Given the description of an element on the screen output the (x, y) to click on. 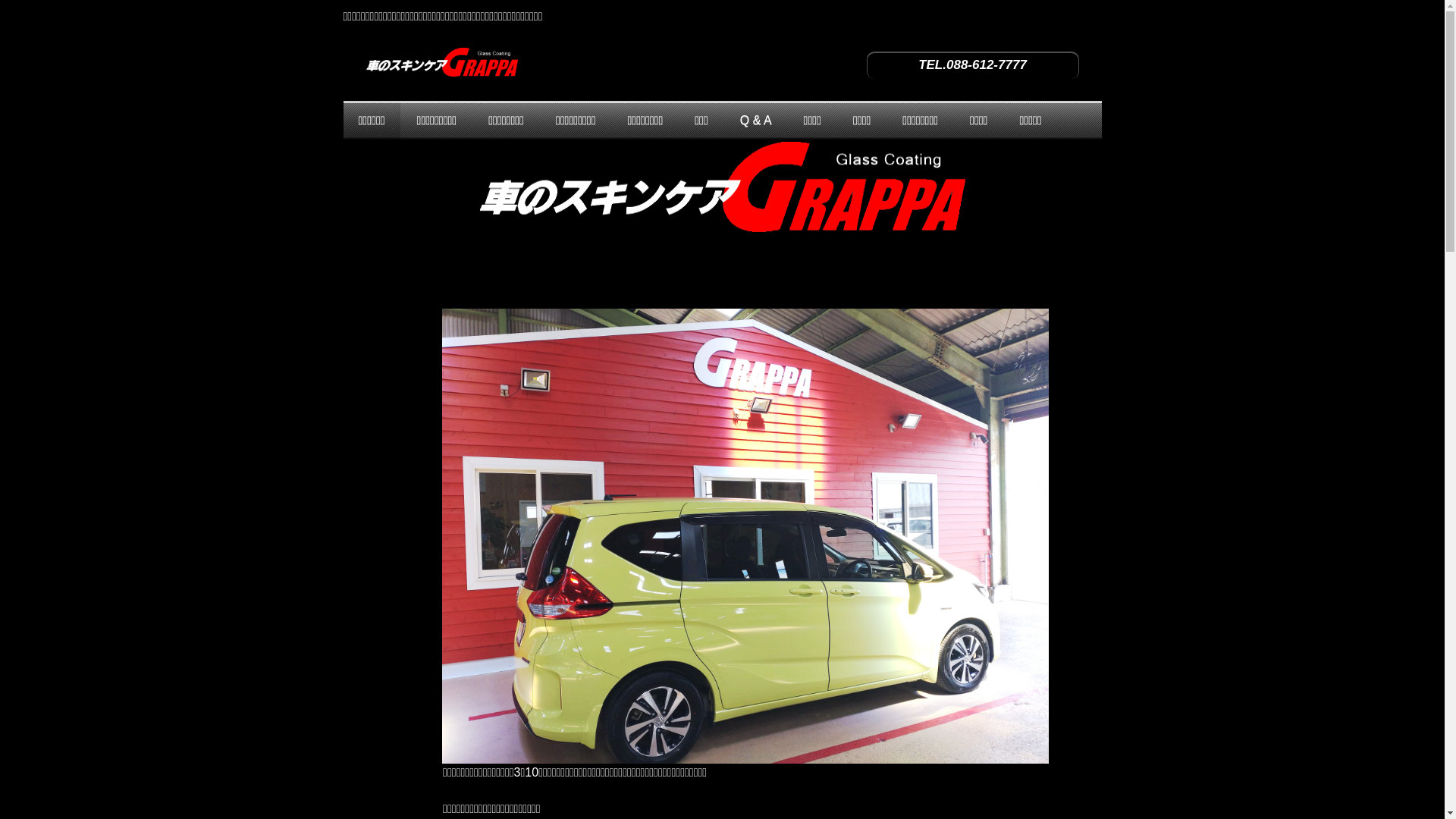
Q & A Element type: text (755, 119)
